Given the description of an element on the screen output the (x, y) to click on. 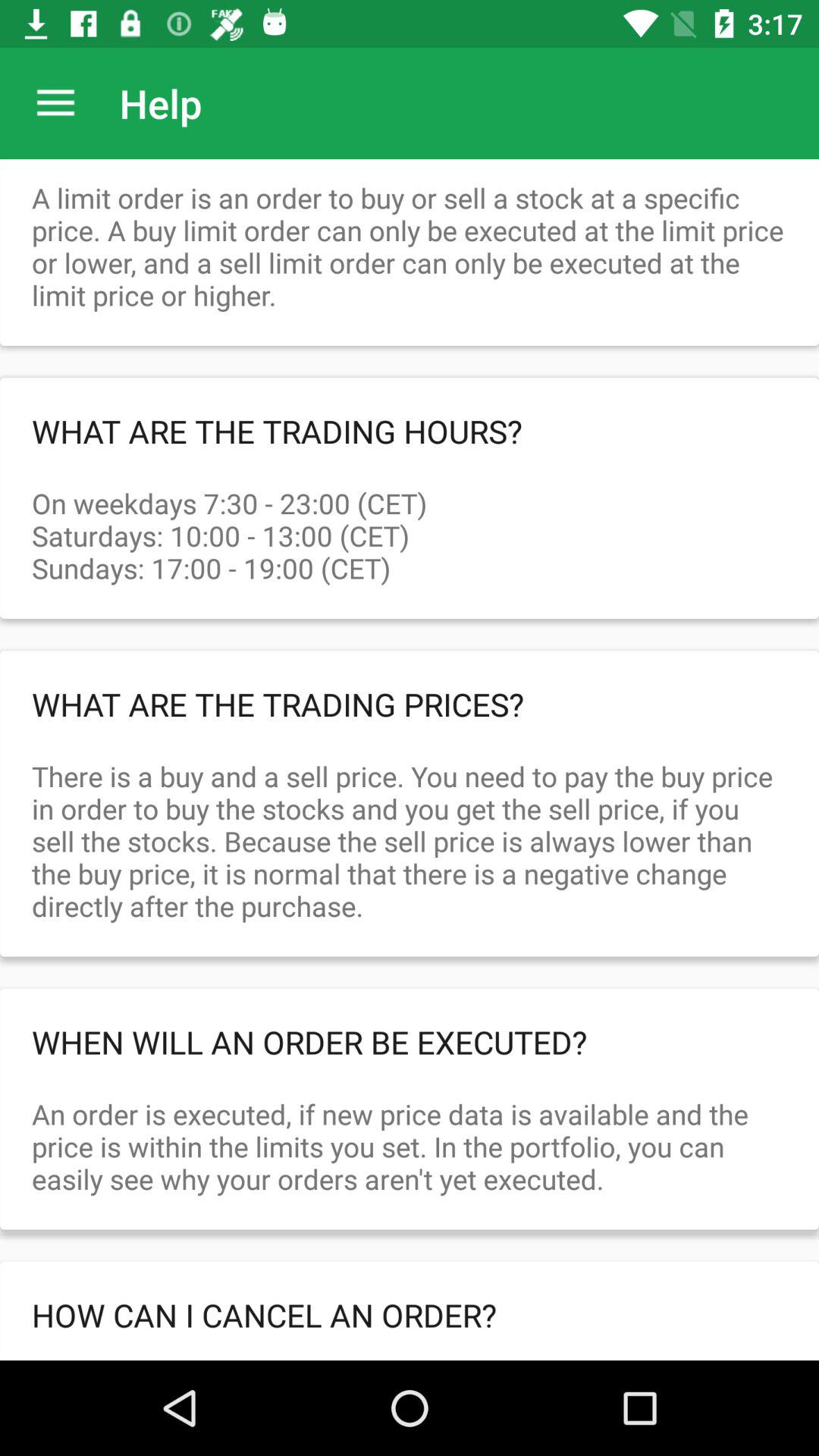
choose the icon next to help icon (55, 103)
